Given the description of an element on the screen output the (x, y) to click on. 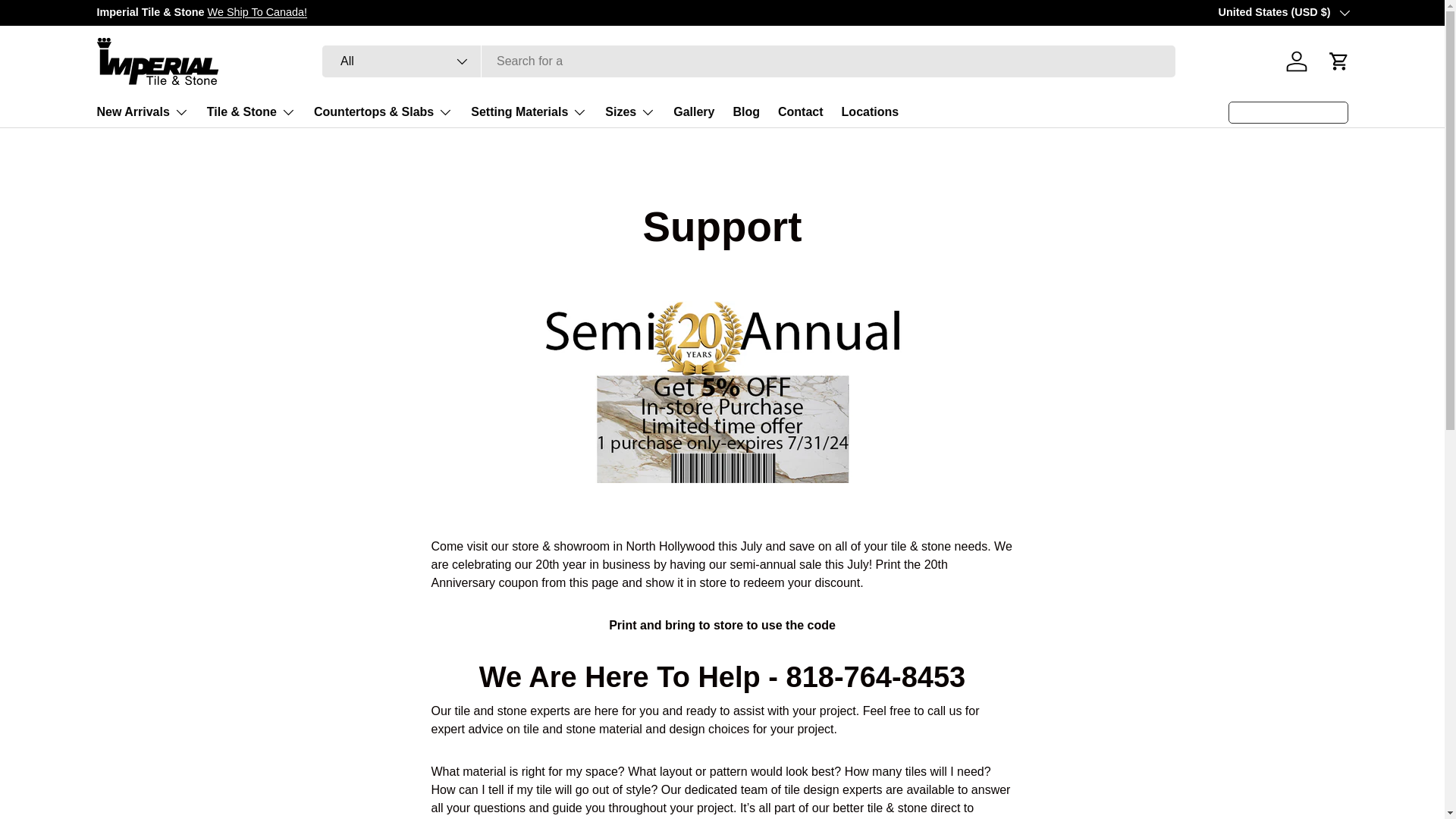
Log in (1296, 61)
We Ship To Canada! (257, 11)
Cart (1338, 61)
Skip to content (68, 21)
Shipping Policy (257, 11)
All (401, 60)
New Arrivals (143, 112)
